Given the description of an element on the screen output the (x, y) to click on. 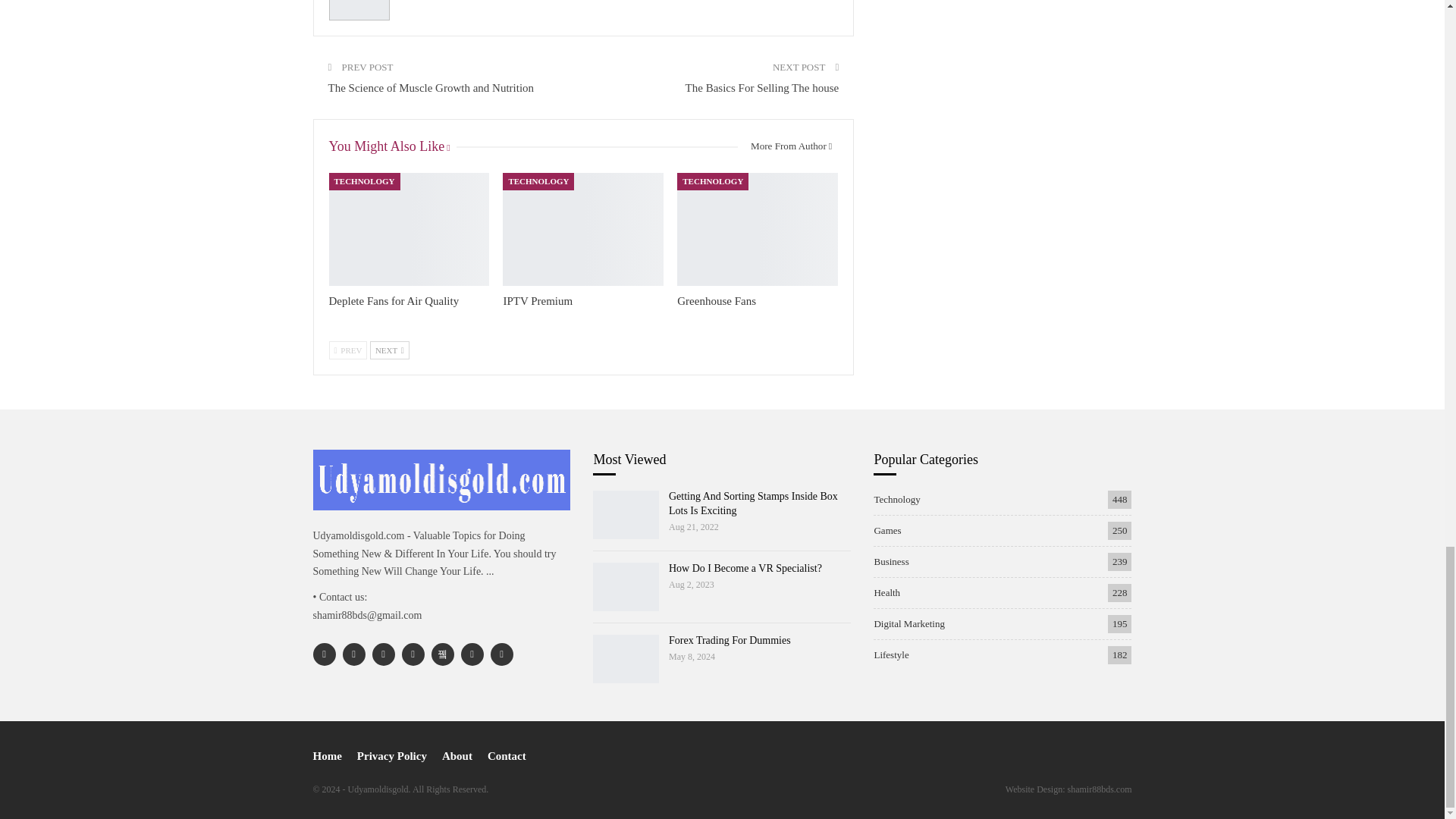
Deplete Fans for Air Quality (394, 300)
IPTV Premium (537, 300)
Deplete Fans for Air Quality (409, 228)
IPTV Premium (582, 228)
